Given the description of an element on the screen output the (x, y) to click on. 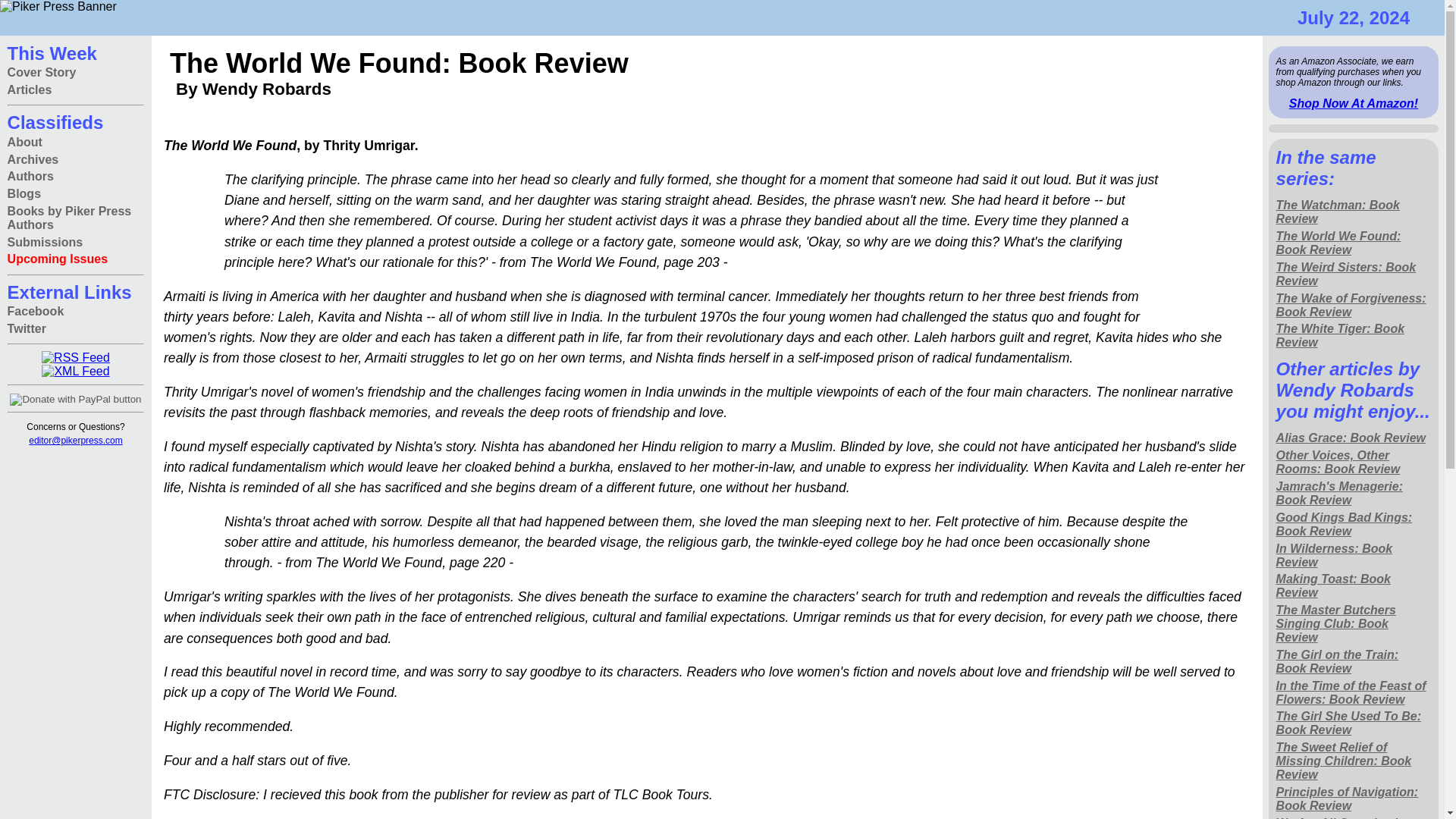
The Wake of Forgiveness: Book Review (1353, 305)
The Girl She Used To Be: Book Review (1353, 723)
The World We Found: Book Review (1353, 243)
Blogs (23, 194)
Authors (30, 176)
The White Tiger: Book Review (1353, 336)
Jamrach's Menagerie: Book Review (1353, 493)
Articles (29, 90)
Cover Story (42, 72)
In the Time of the Feast of Flowers: Book Review (1353, 692)
Other Voices, Other Rooms: Book Review (1353, 462)
Shop Now At Amazon! (1353, 103)
We Are All Completely Beside Ourselves: Book Review (1353, 816)
In Wilderness: Book Review (1353, 554)
The Girl on the Train: Book Review (1353, 661)
